Given the description of an element on the screen output the (x, y) to click on. 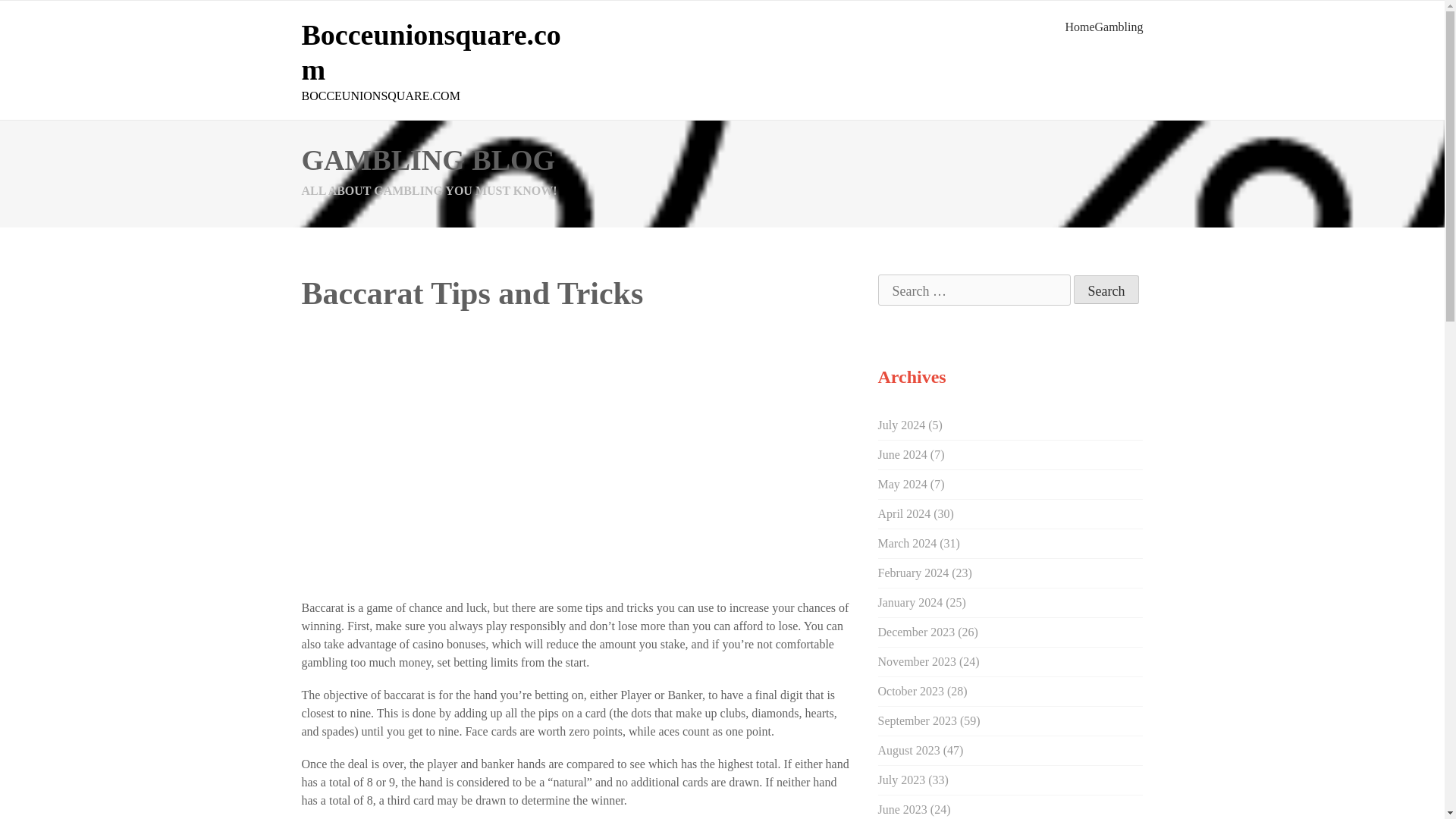
Gambling (1118, 27)
June 2024 (902, 454)
Search (1107, 289)
Search (1107, 289)
March 2024 (907, 543)
Bocceunionsquare.com (430, 51)
October 2023 (910, 690)
August 2023 (908, 749)
February 2024 (913, 572)
September 2023 (916, 720)
December 2023 (916, 631)
Home (1079, 27)
July 2023 (901, 779)
April 2024 (904, 513)
